Given the description of an element on the screen output the (x, y) to click on. 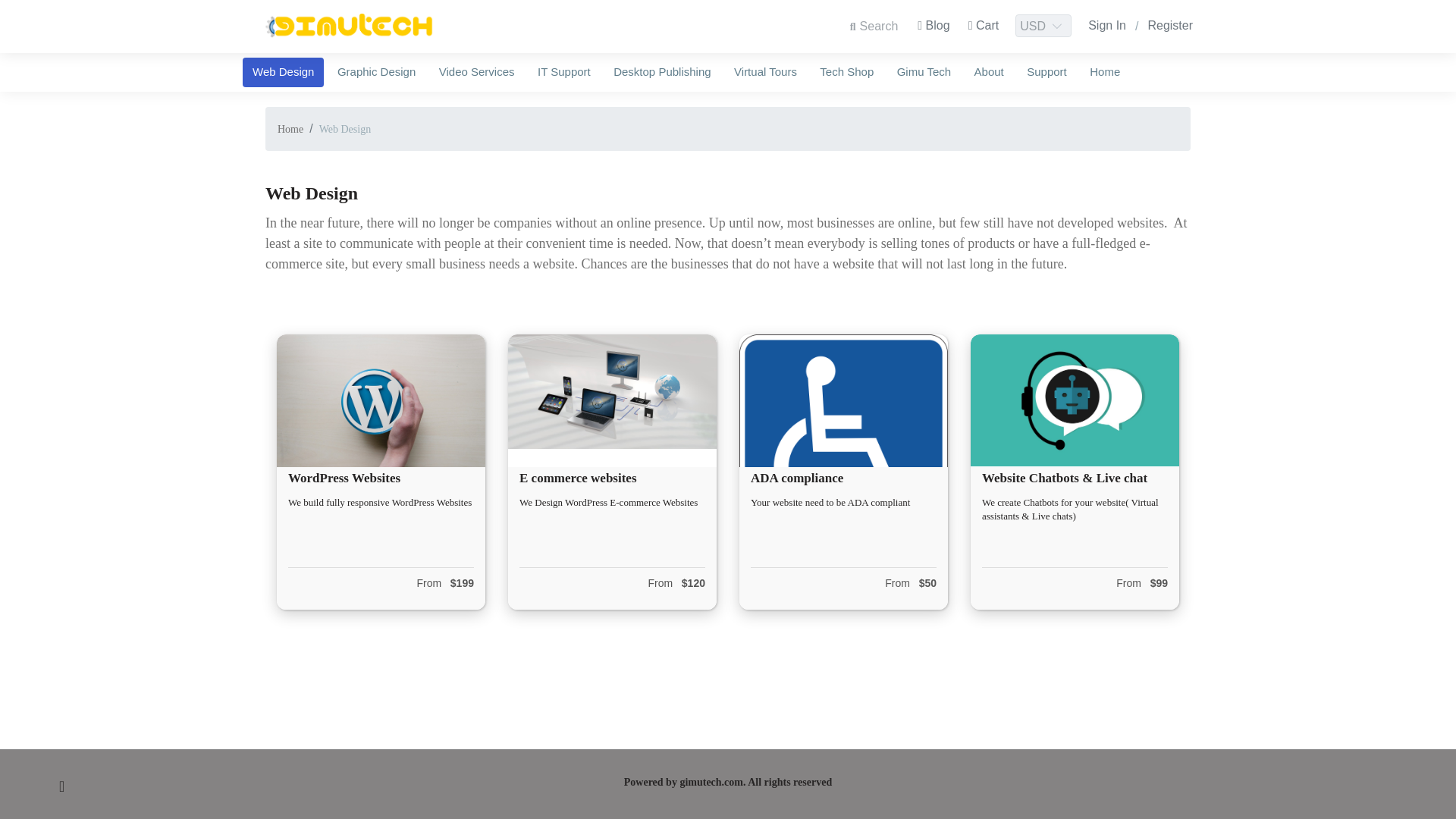
Web Design (344, 129)
Sign In (1106, 26)
Video Services (476, 71)
Blog (933, 26)
Search (874, 26)
Register (1170, 26)
Gimu Tech (923, 71)
Support (1046, 71)
Home (1104, 71)
Tech Shop (846, 71)
Web Design (283, 71)
Cart (984, 26)
IT Support (563, 71)
Desktop Publishing (662, 71)
